Given the description of an element on the screen output the (x, y) to click on. 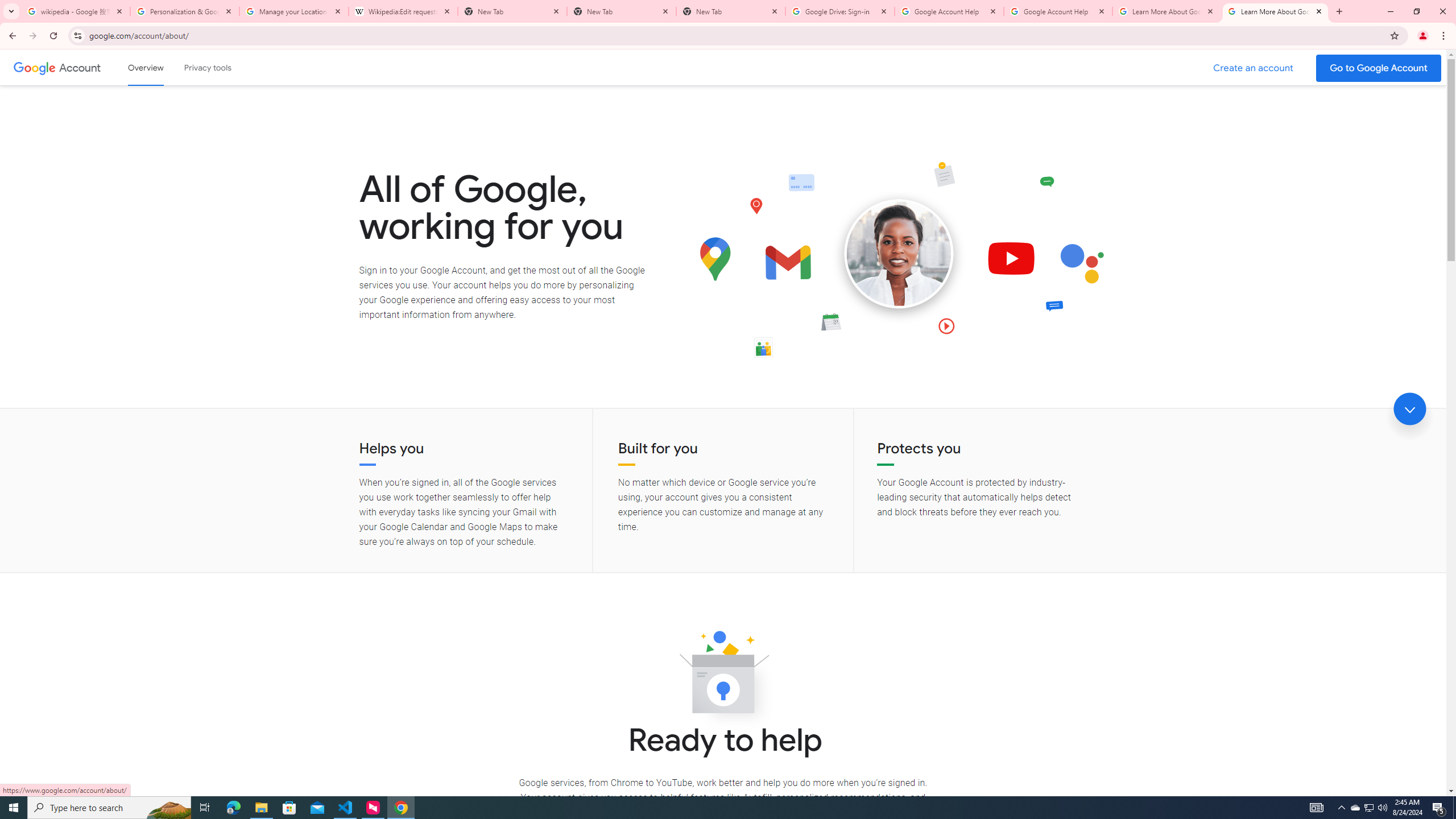
Google Drive: Sign-in (839, 11)
Wikipedia:Edit requests - Wikipedia (403, 11)
Google Account (80, 67)
